Given the description of an element on the screen output the (x, y) to click on. 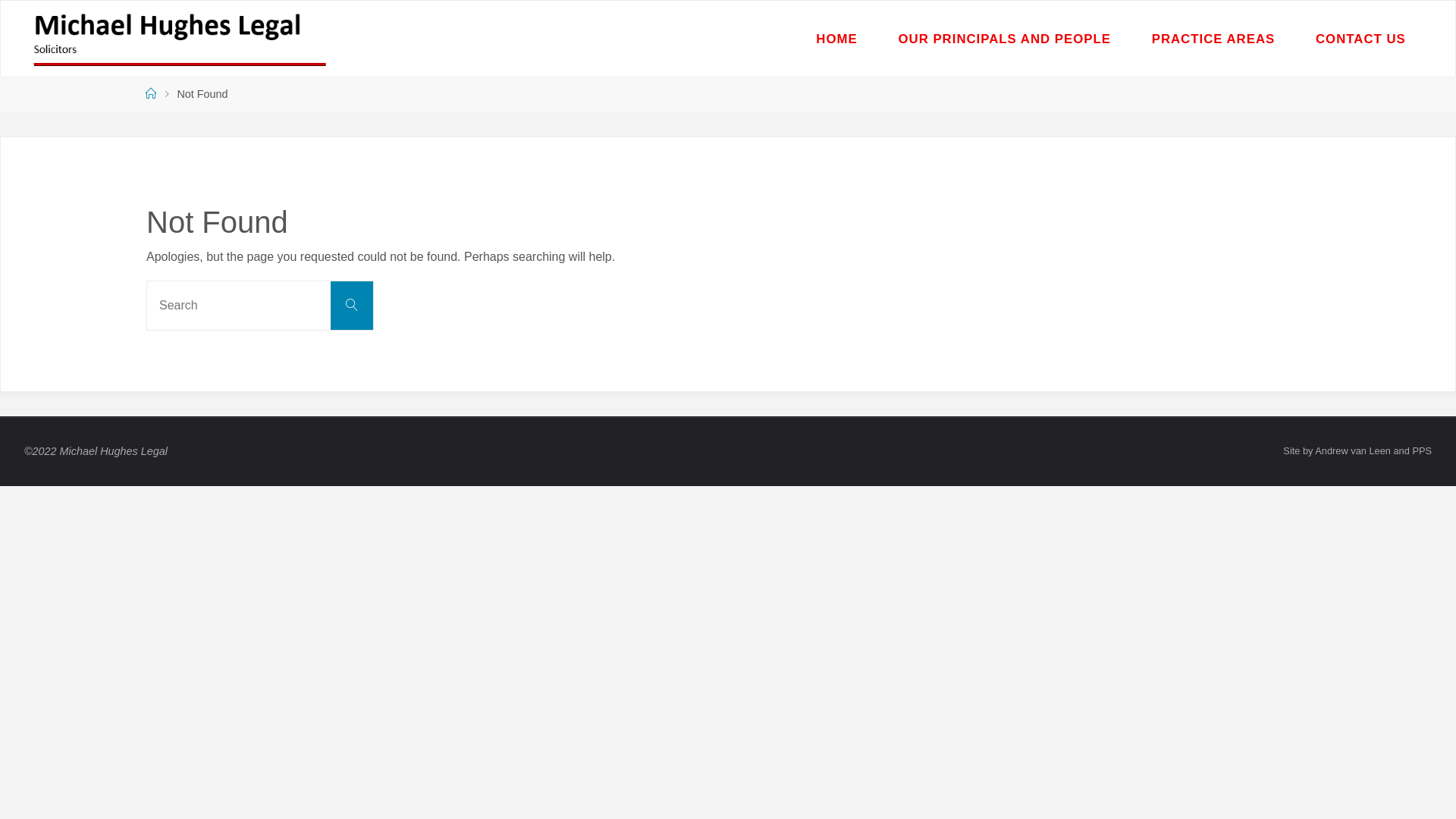
CONTACT US Element type: text (1360, 38)
Home Element type: text (150, 93)
Search Element type: text (351, 305)
PRACTICE AREAS Element type: text (1213, 38)
OUR PRINCIPALS AND PEOPLE Element type: text (1004, 38)
HOME Element type: text (836, 38)
Michael Hughes Legal Element type: hover (180, 37)
